Given the description of an element on the screen output the (x, y) to click on. 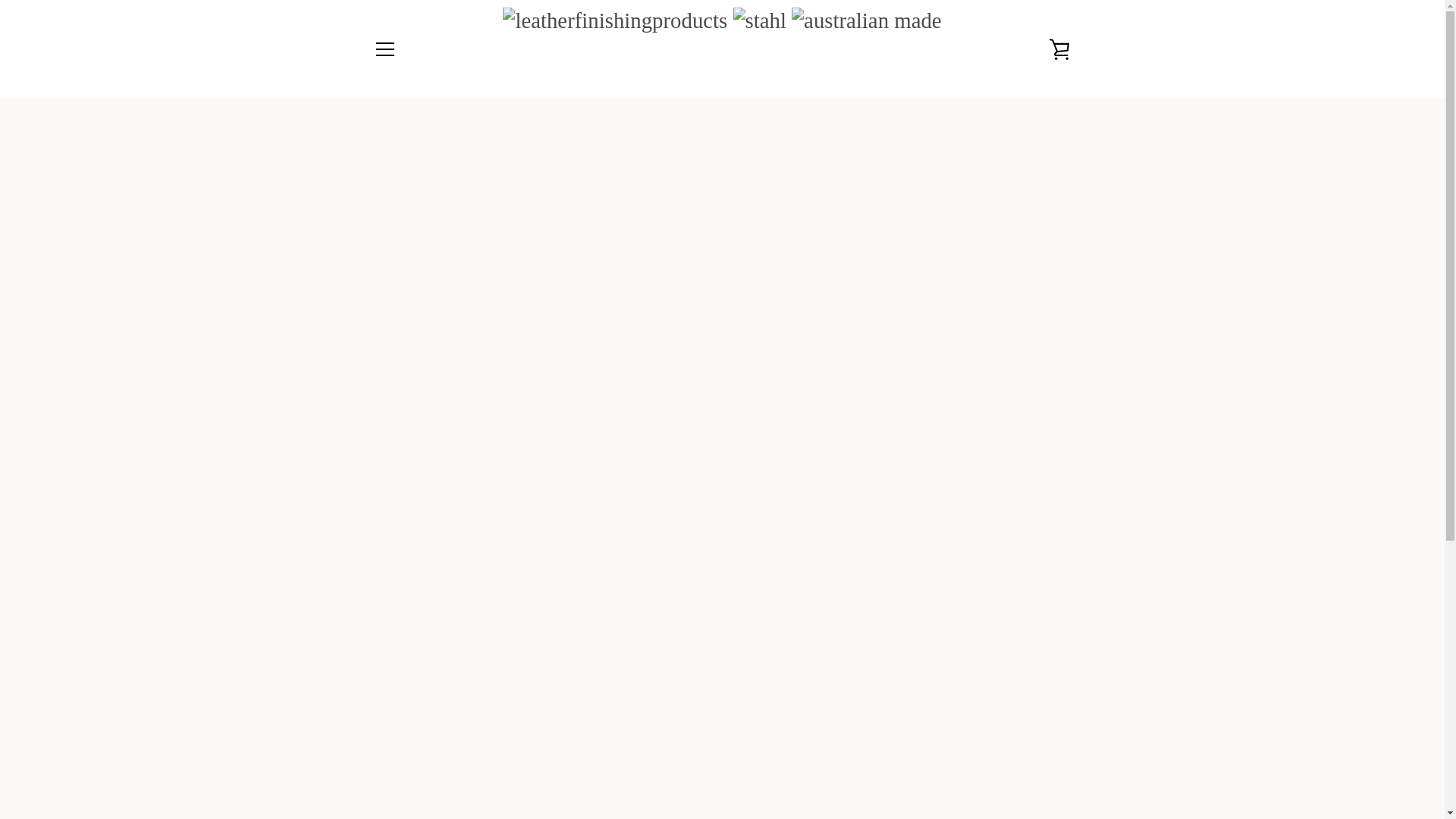
VIEW CART (1059, 48)
MENU (384, 48)
